Given the description of an element on the screen output the (x, y) to click on. 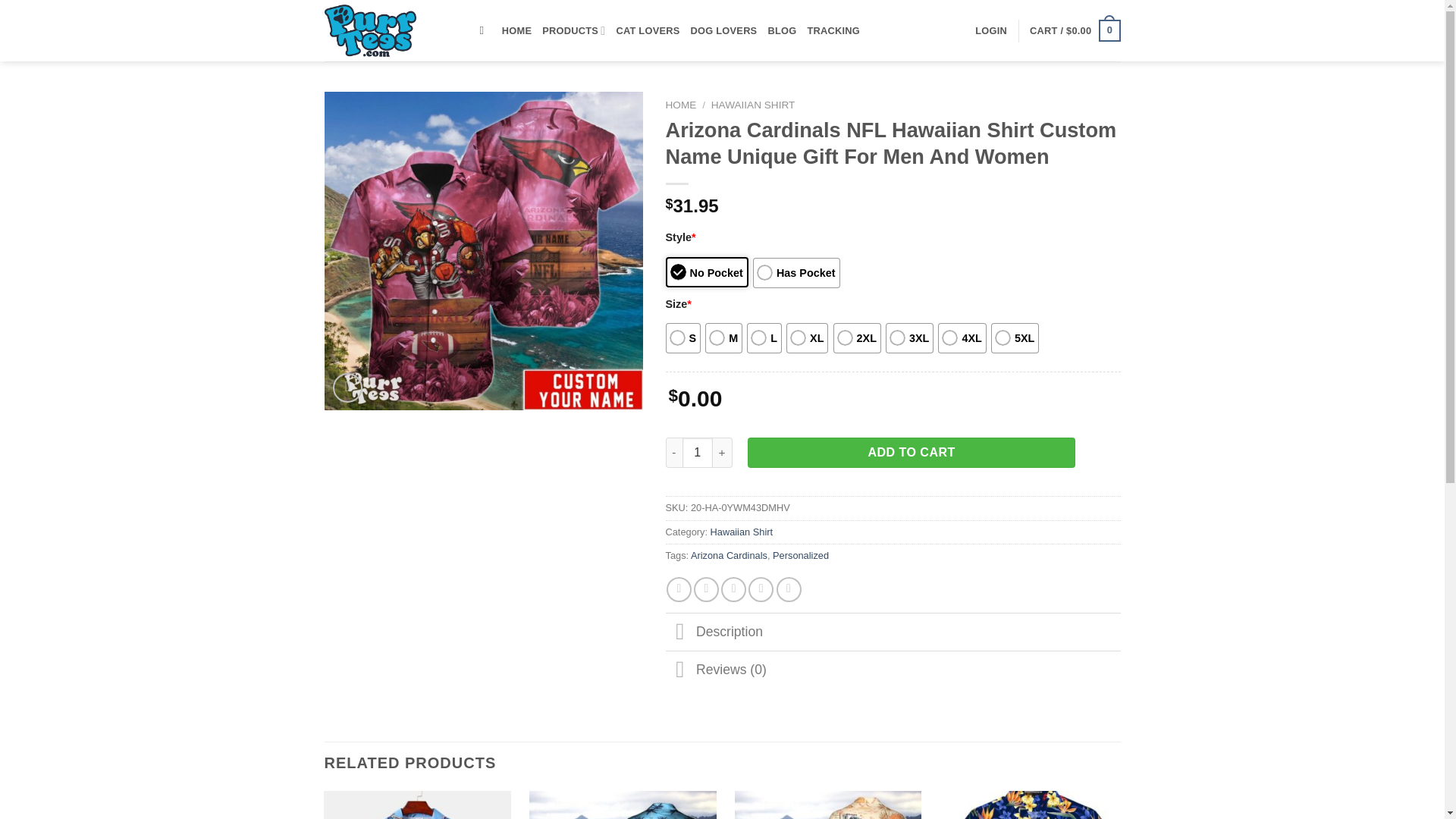
M (723, 337)
Has Pocket (796, 272)
LOGIN (991, 30)
L (763, 337)
Arizona Cardinals (728, 555)
Personalized (800, 555)
BLOG (781, 30)
TRACKING (833, 30)
1 (697, 452)
HOME (516, 30)
